Given the description of an element on the screen output the (x, y) to click on. 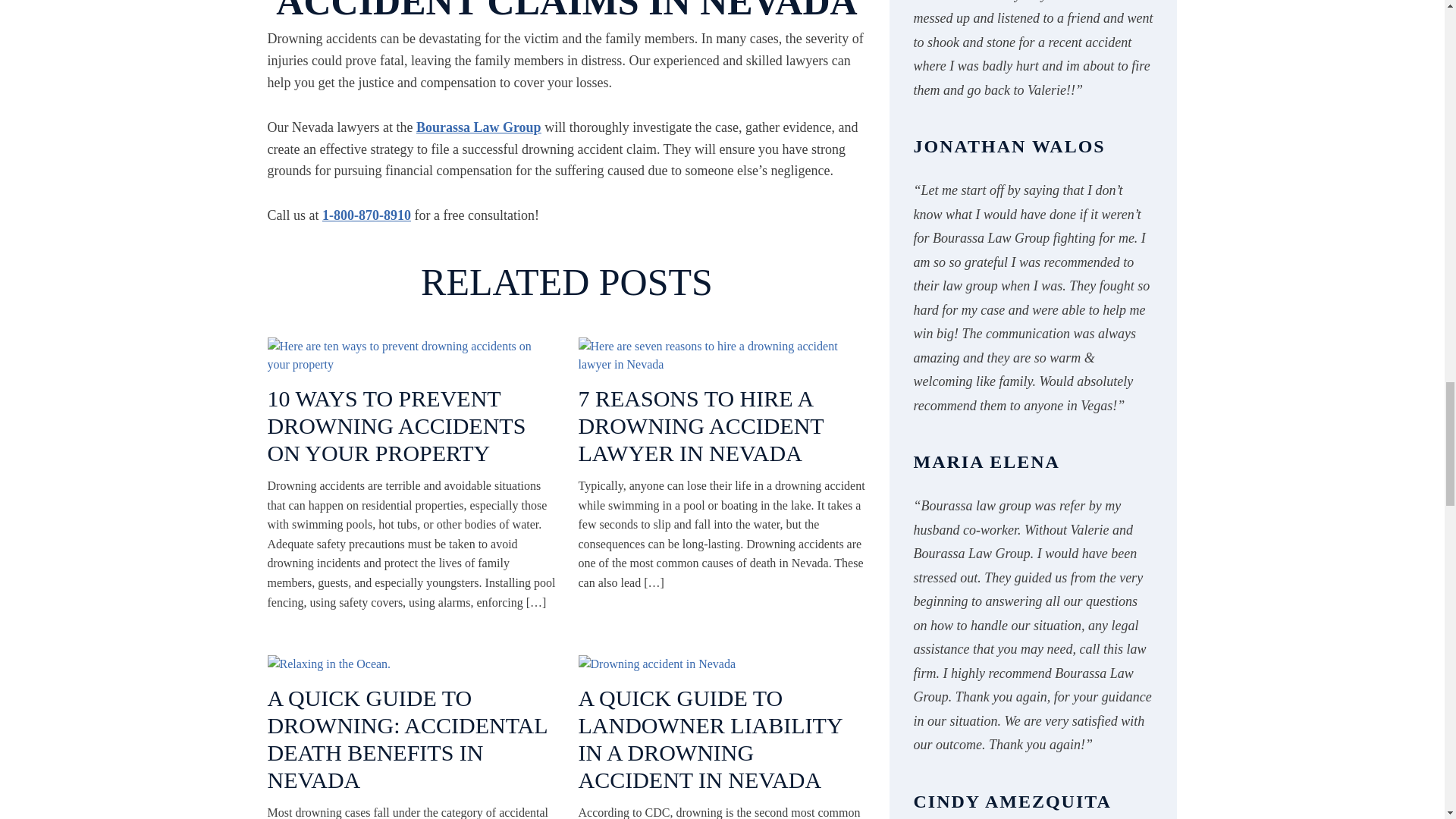
Bourassa Law Group (478, 127)
1-800-870-8910 (365, 215)
